Given the description of an element on the screen output the (x, y) to click on. 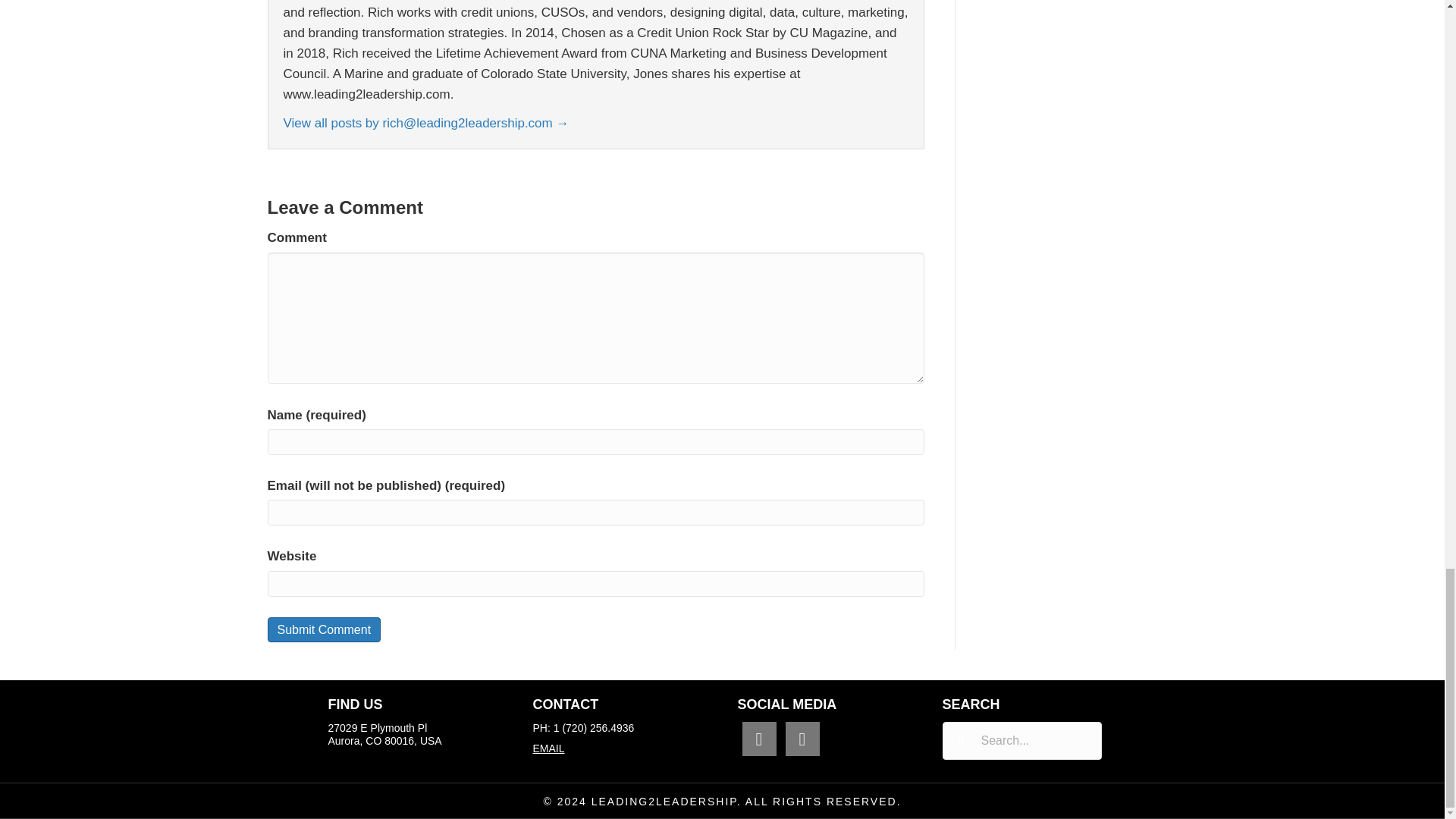
Submit Comment (323, 629)
Submit Comment (323, 629)
